Given the description of an element on the screen output the (x, y) to click on. 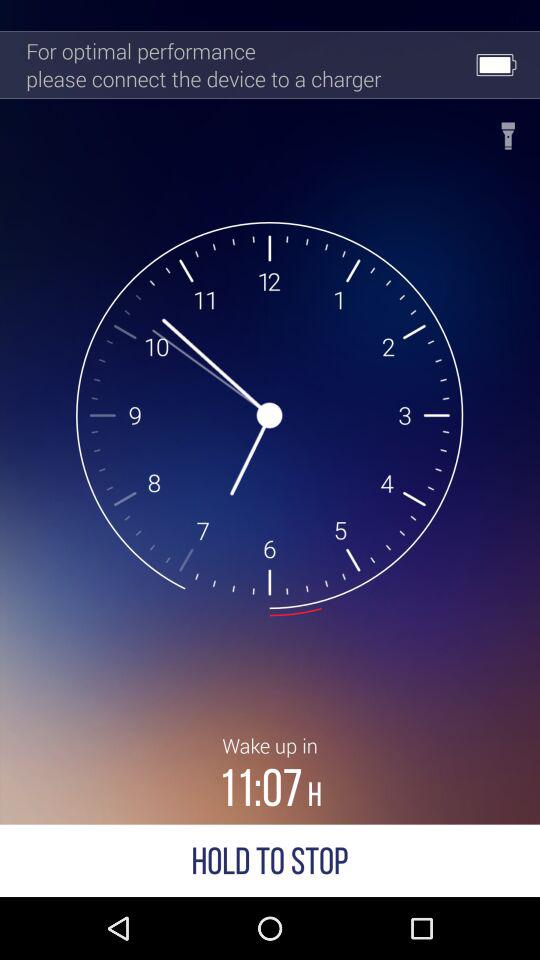
open icon to the right of the for optimal performance (508, 129)
